Given the description of an element on the screen output the (x, y) to click on. 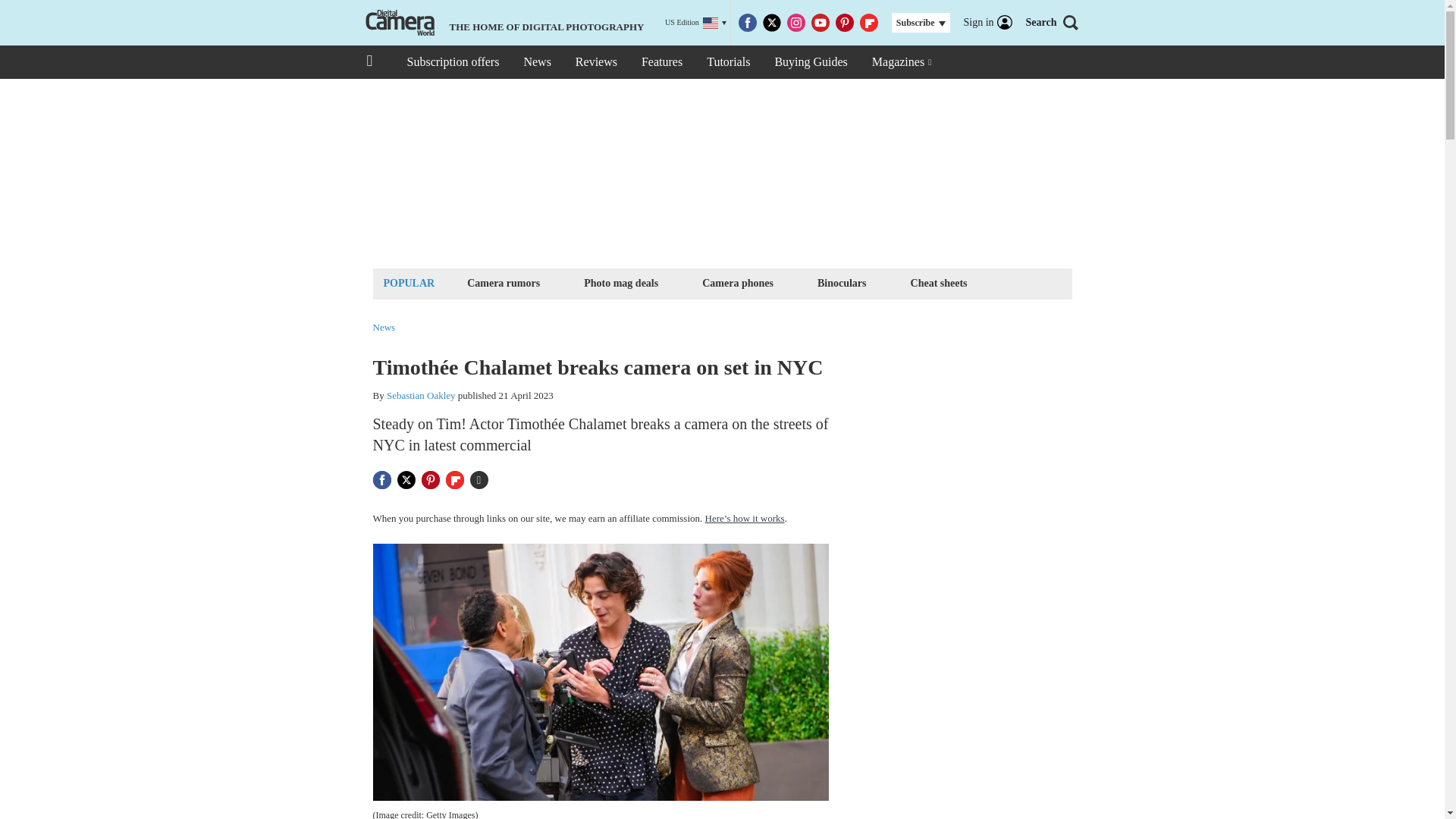
Subscription offers (452, 61)
THE HOME OF DIGITAL PHOTOGRAPHY (503, 22)
News (536, 61)
Camera phones (737, 282)
Reviews (595, 61)
Binoculars (842, 282)
US Edition (695, 22)
Buying Guides (810, 61)
Photo mag deals (620, 282)
Cheat sheets (938, 282)
